Given the description of an element on the screen output the (x, y) to click on. 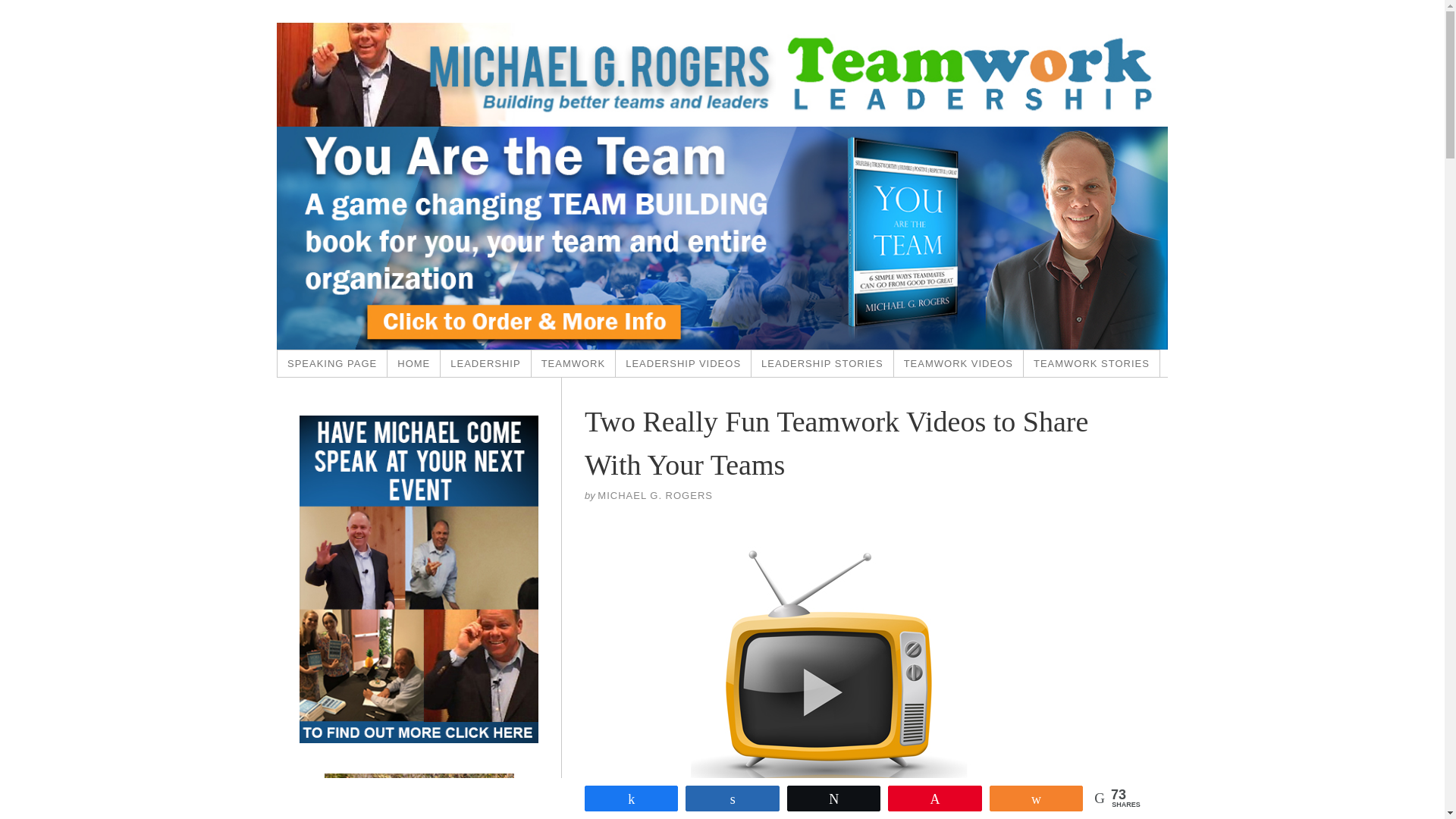
TEAMWORK VIDEOS (958, 363)
TEAMWORK (573, 363)
SPEAKING PAGE (332, 363)
TEAMWORK STORIES (1091, 363)
Have Michael Come Speak to your Team or at your Next Event (332, 363)
HOME (414, 363)
LEADERSHIP (486, 363)
LEADERSHIP STORIES (822, 363)
LEADERSHIP VIDEOS (683, 363)
